Given the description of an element on the screen output the (x, y) to click on. 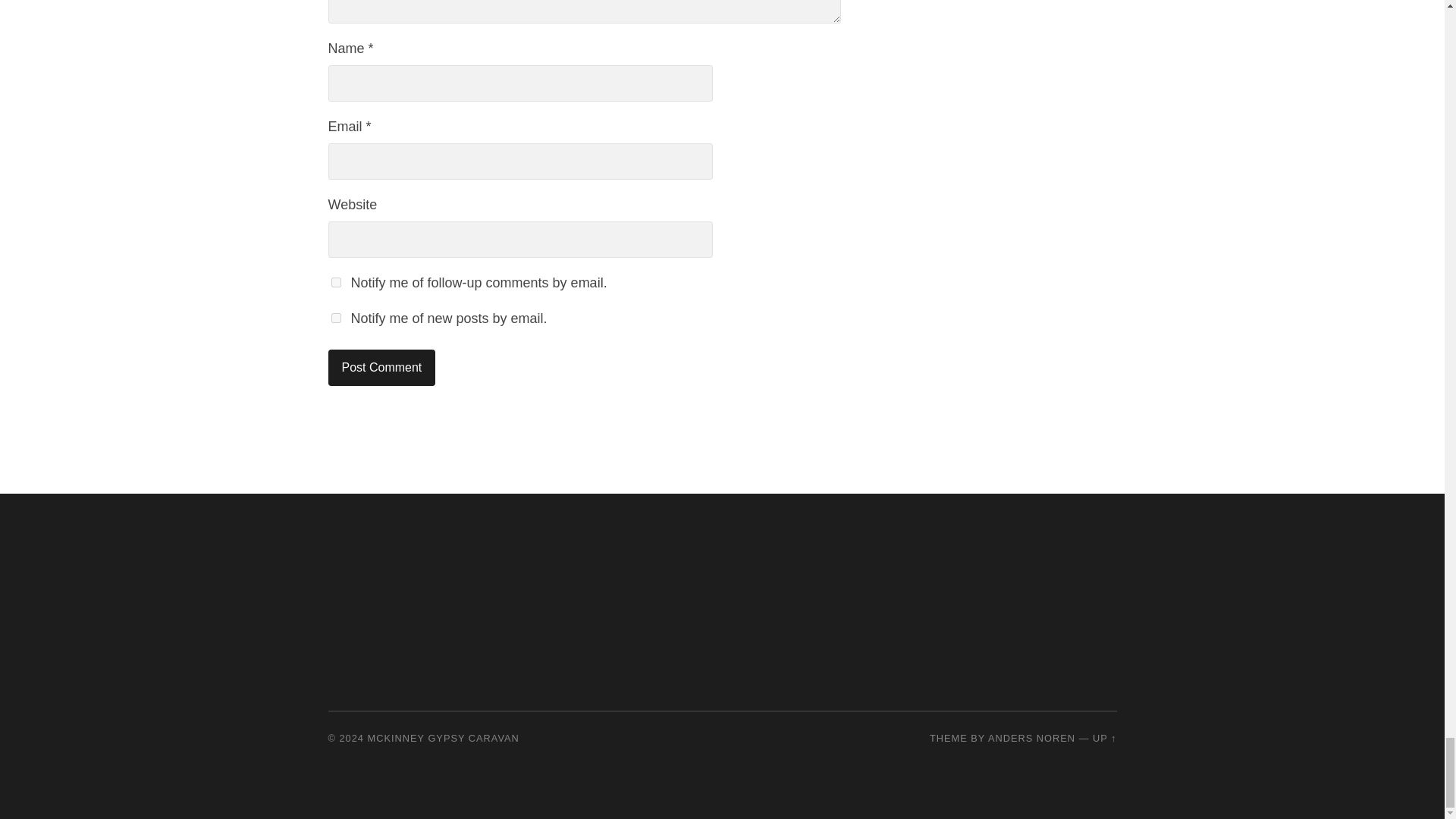
subscribe (335, 317)
subscribe (335, 282)
To the top (1104, 737)
Post Comment (381, 367)
